Given the description of an element on the screen output the (x, y) to click on. 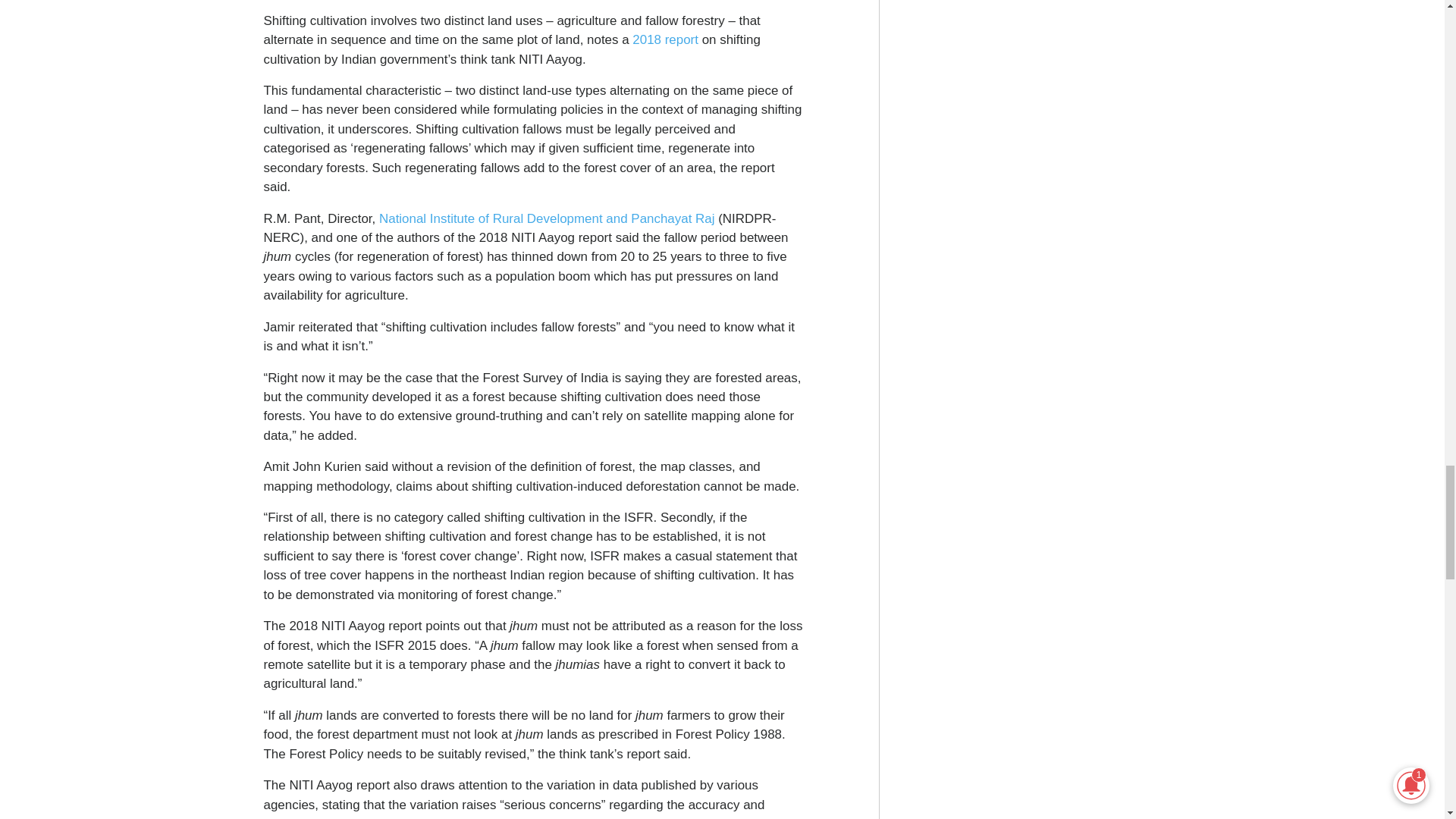
2018 report (664, 39)
National Institute of Rural Development and Panchayat Raj (546, 218)
